Given the description of an element on the screen output the (x, y) to click on. 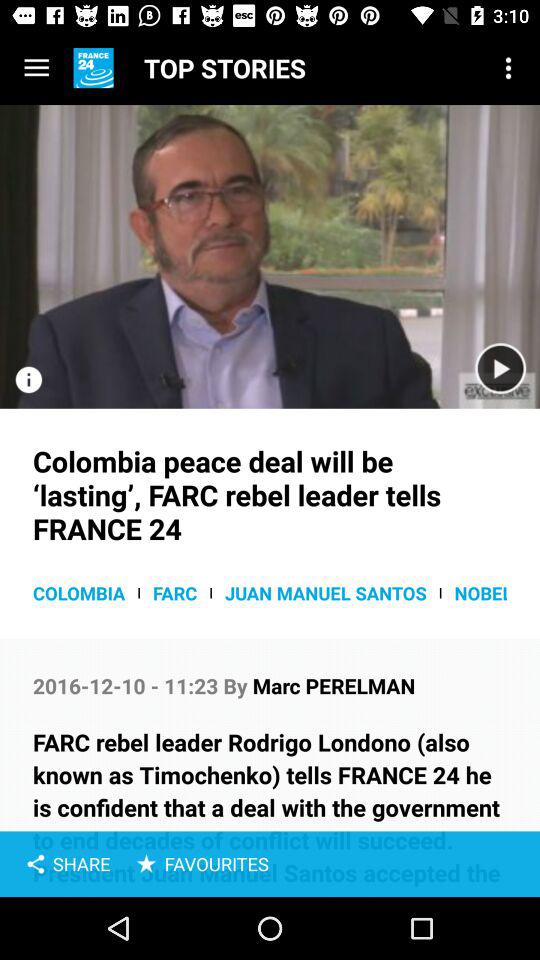
play video of the news (500, 368)
